Given the description of an element on the screen output the (x, y) to click on. 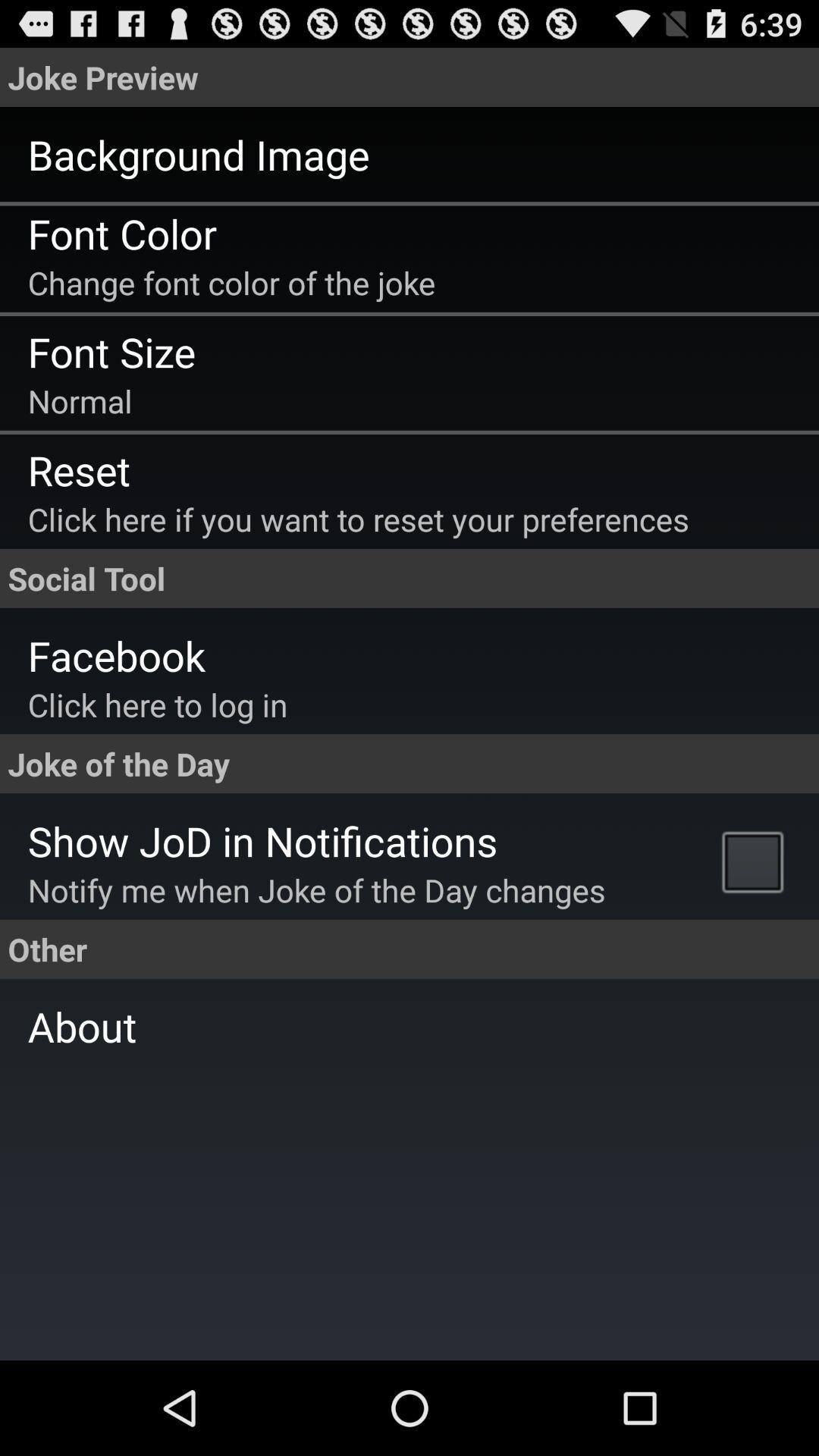
flip until checkbox (756, 860)
